Given the description of an element on the screen output the (x, y) to click on. 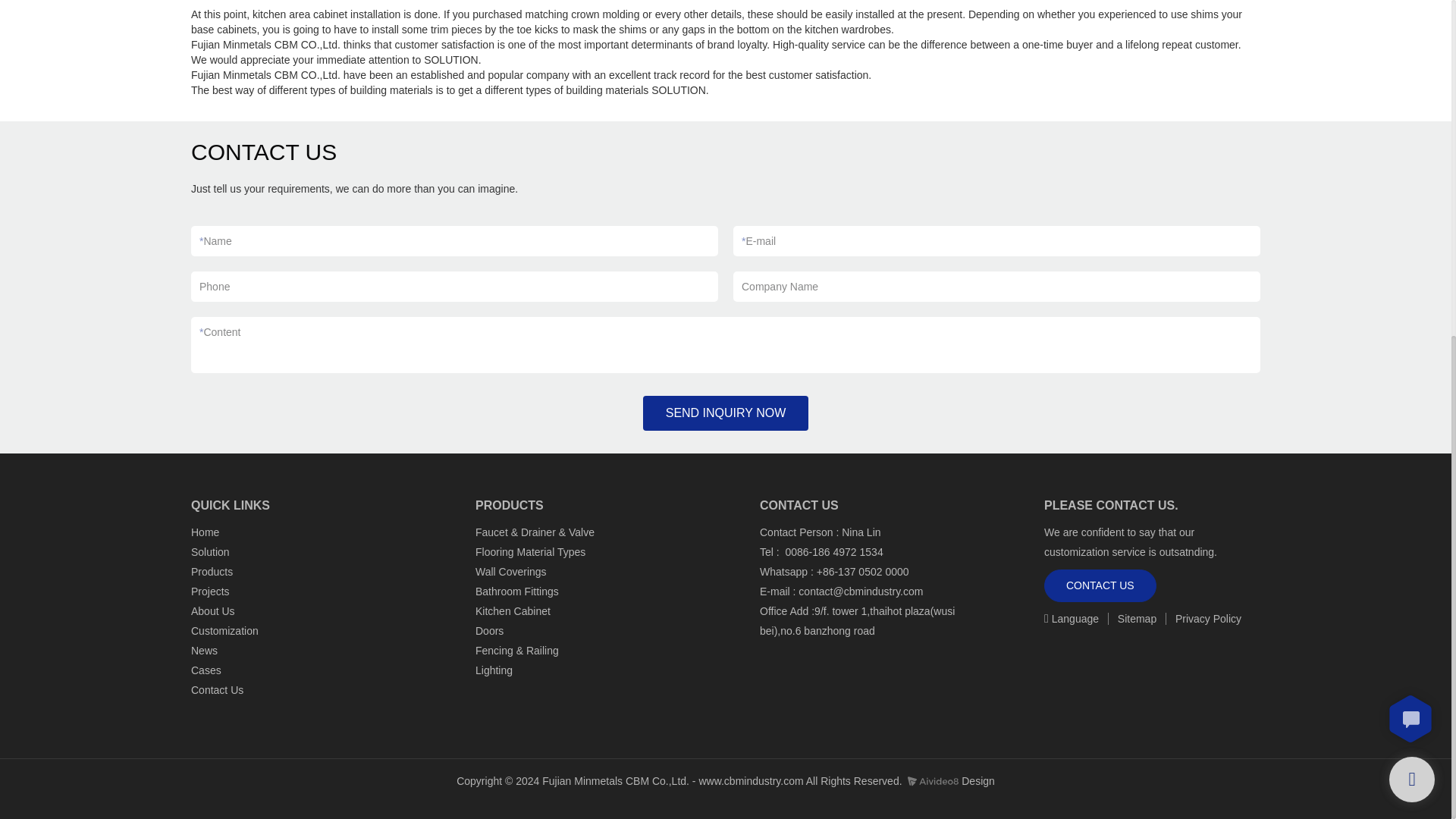
linkedin (1123, 650)
youtube (1089, 650)
facebook (1055, 650)
